Given the description of an element on the screen output the (x, y) to click on. 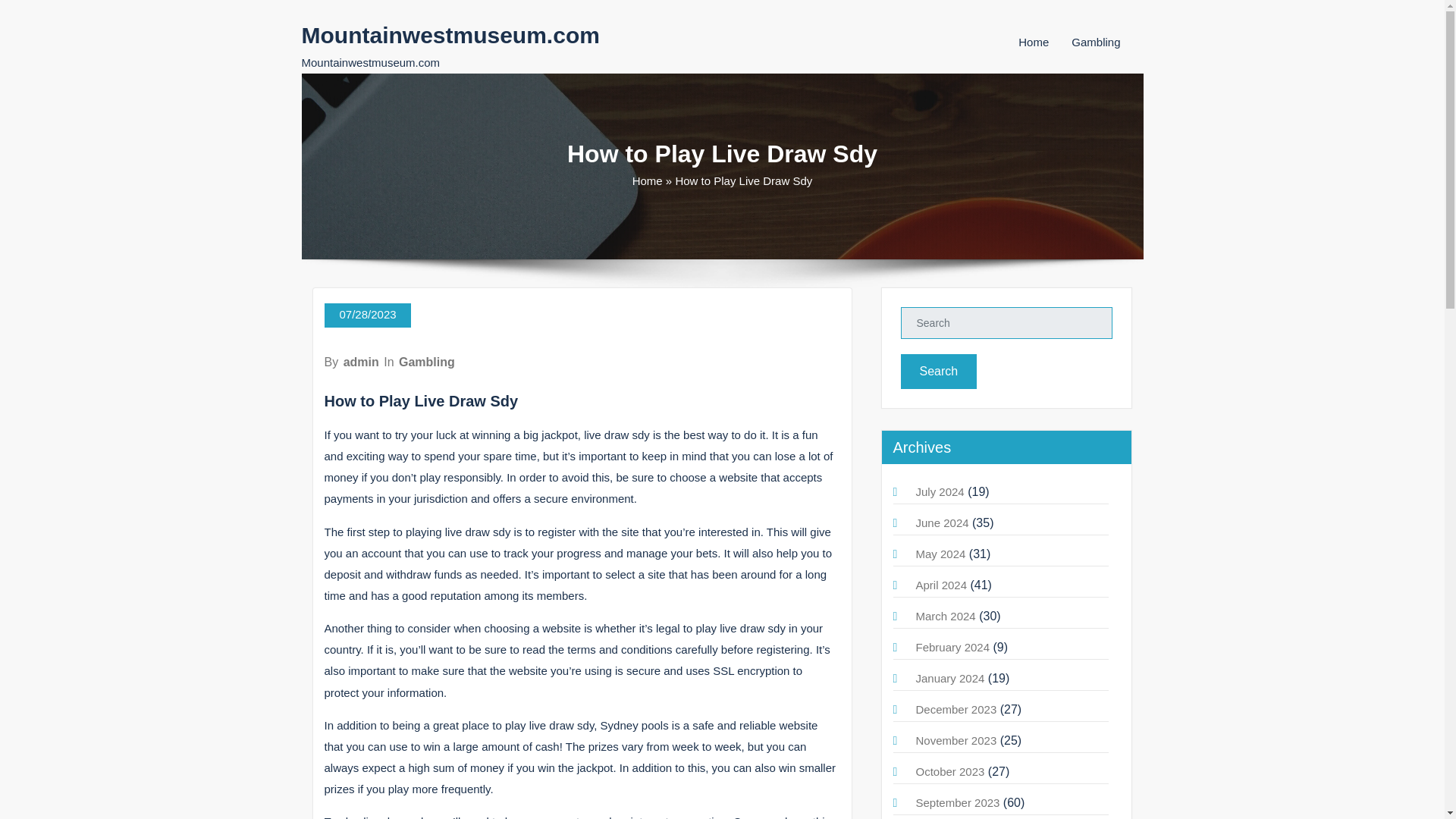
admin (361, 361)
November 2023 (956, 739)
October 2023 (950, 771)
January 2024 (950, 677)
April 2024 (941, 584)
June 2024 (942, 522)
February 2024 (952, 646)
March 2024 (945, 615)
Gambling (427, 361)
Gambling (1095, 41)
May 2024 (940, 553)
Search (938, 371)
September 2023 (957, 802)
Home (1032, 41)
December 2023 (956, 708)
